Given the description of an element on the screen output the (x, y) to click on. 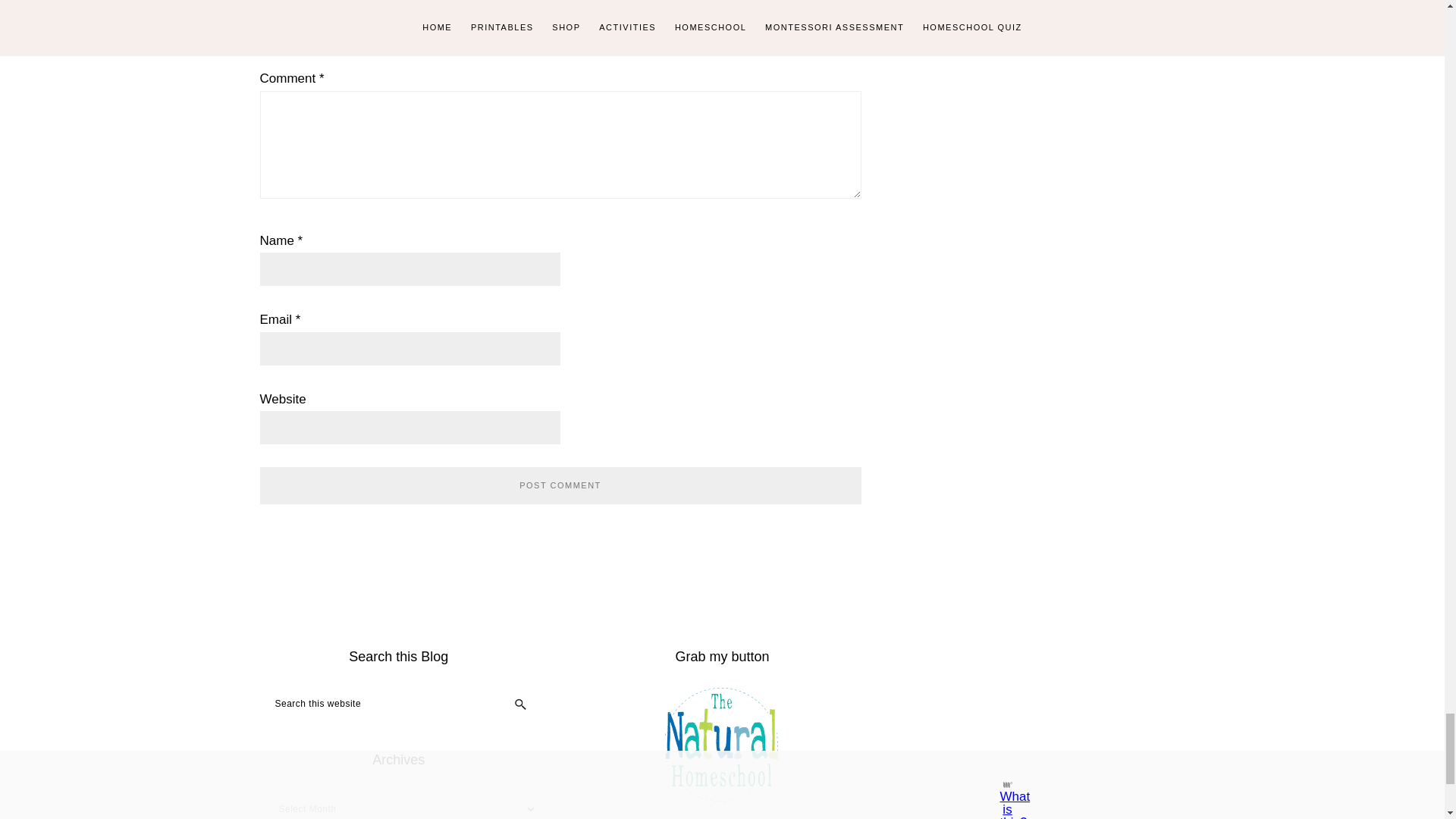
Post Comment (559, 485)
